Given the description of an element on the screen output the (x, y) to click on. 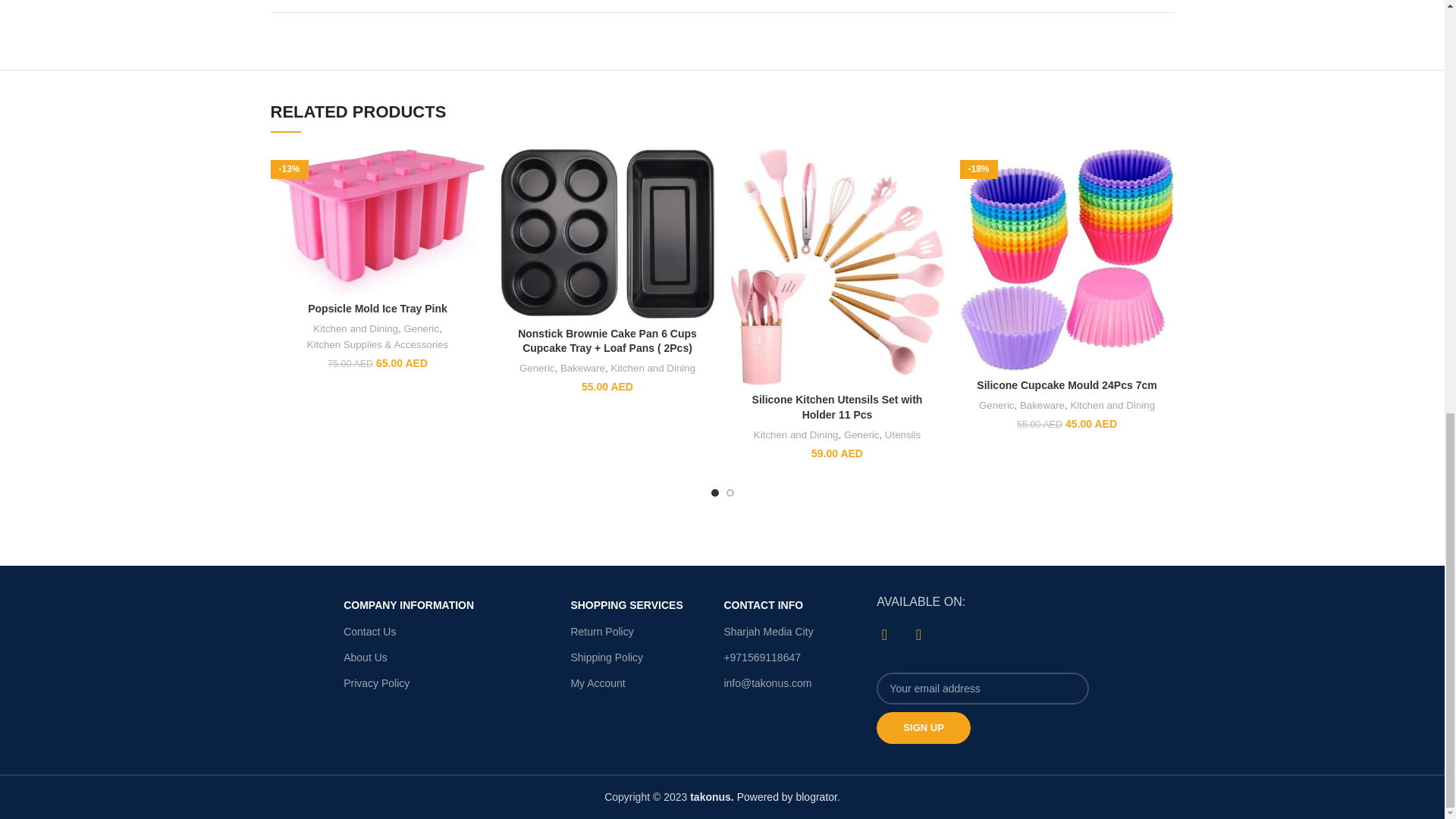
Sign up (922, 727)
